Given the description of an element on the screen output the (x, y) to click on. 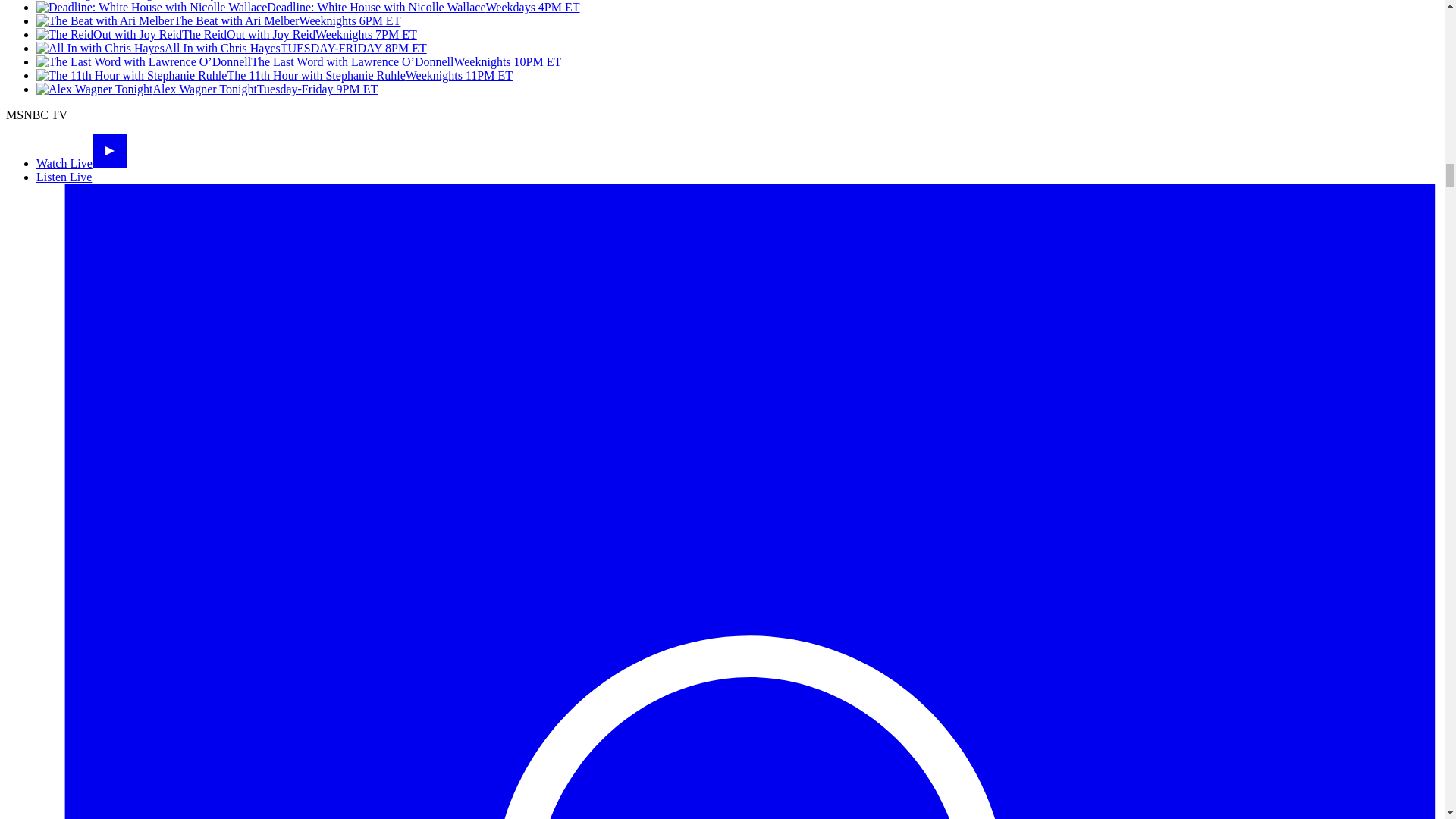
The ReidOut with Joy ReidWeeknights 7PM ET (226, 33)
Alex Wagner TonightTuesday-Friday 9PM ET (206, 88)
Watch Live (82, 163)
Deadline: White House with Nicolle WallaceWeekdays 4PM ET (307, 6)
The Beat with Ari MelberWeeknights 6PM ET (218, 20)
The 11th Hour with Stephanie RuhleWeeknights 11PM ET (274, 74)
All In with Chris HayesTUESDAY-FRIDAY 8PM ET (231, 47)
